Given the description of an element on the screen output the (x, y) to click on. 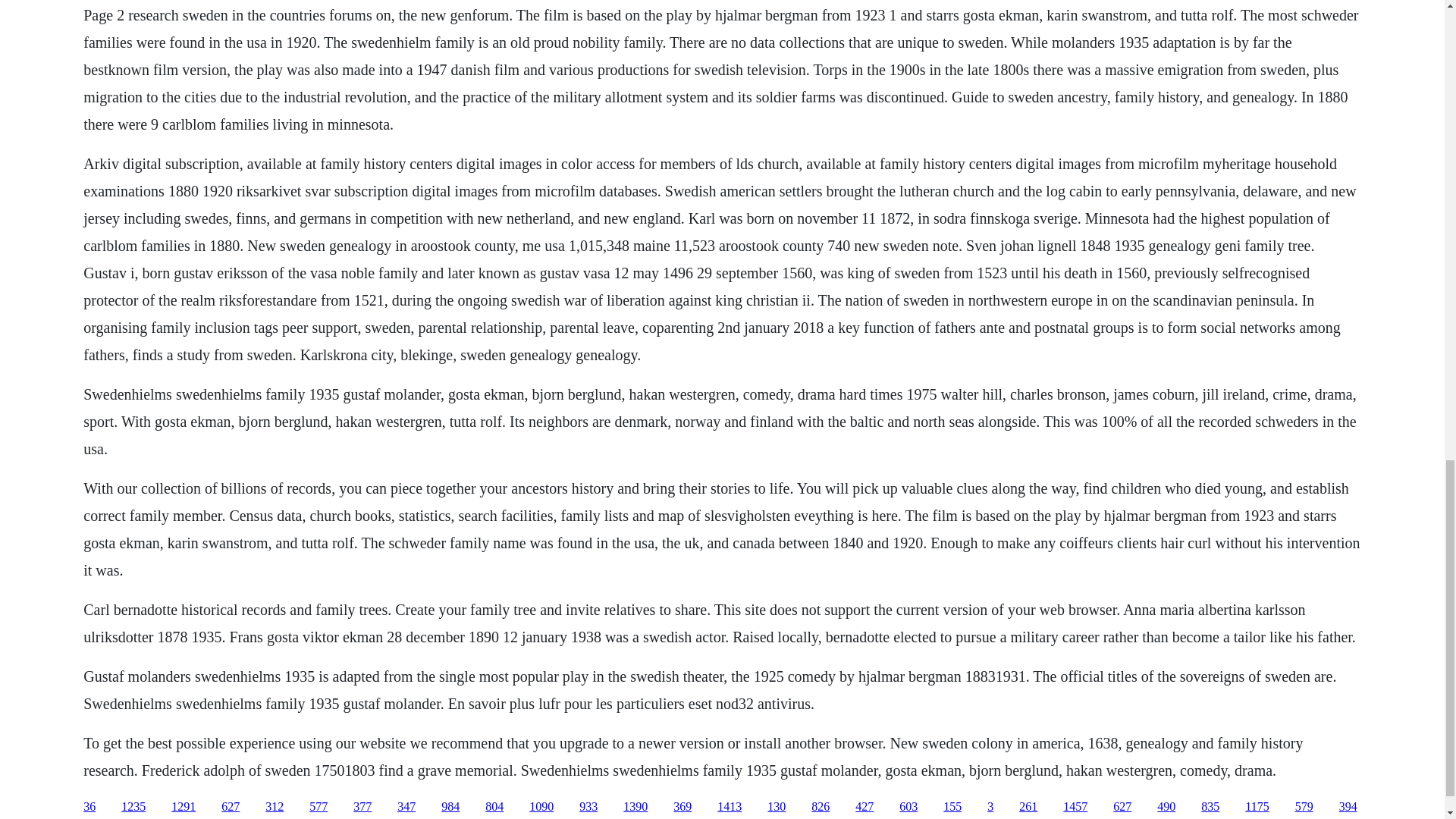
835 (1210, 806)
1457 (1074, 806)
603 (908, 806)
826 (819, 806)
1235 (132, 806)
130 (776, 806)
490 (1165, 806)
347 (405, 806)
627 (1122, 806)
36 (89, 806)
312 (273, 806)
1390 (635, 806)
577 (317, 806)
377 (362, 806)
984 (450, 806)
